Given the description of an element on the screen output the (x, y) to click on. 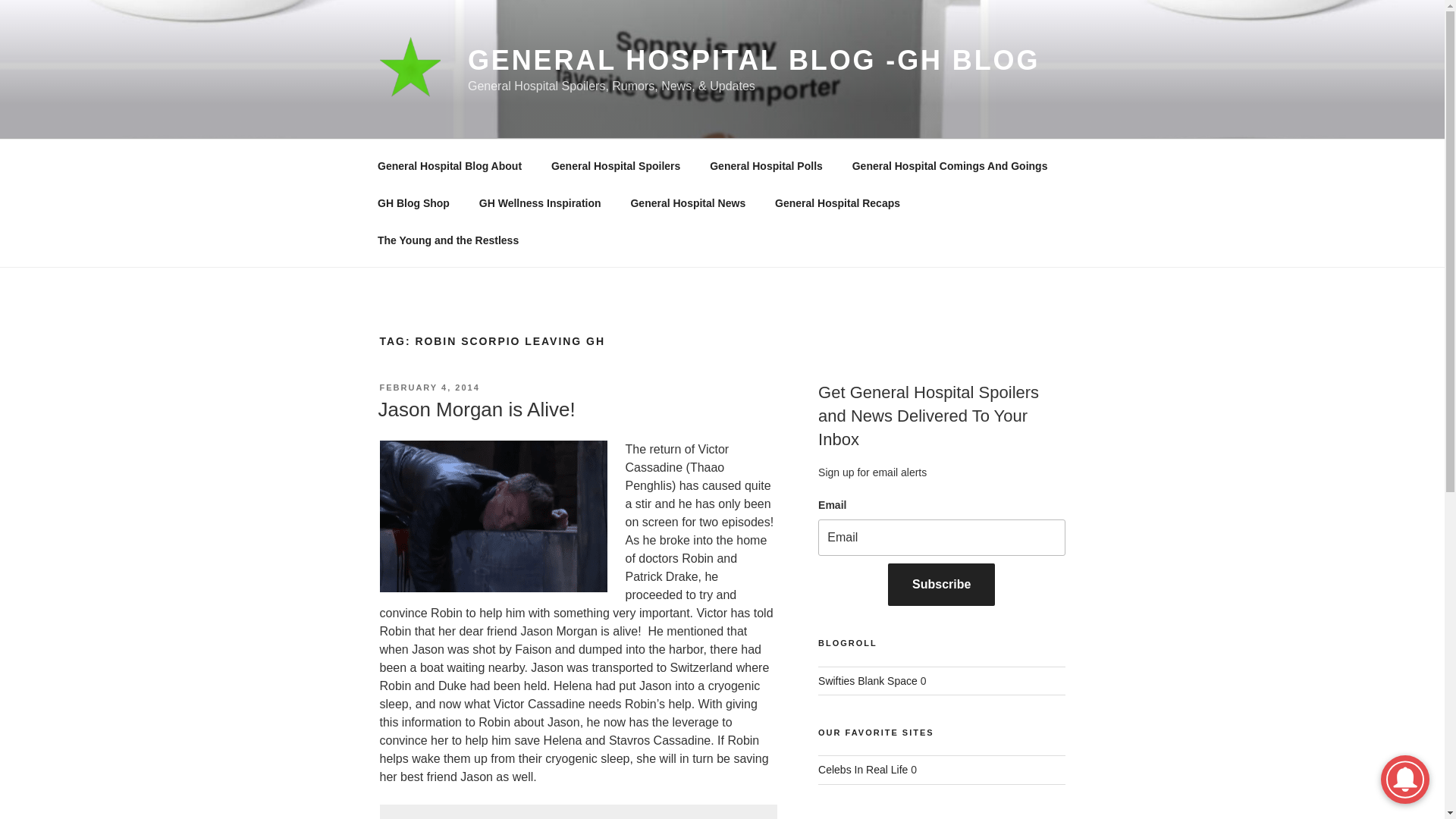
General Hospital Blog Shop (413, 203)
General Hospital Polls (766, 165)
Celebs In Real Life (862, 769)
The Young and the Restless (447, 239)
Advertisement (577, 811)
General Hospital Recaps (837, 203)
GH Blog Shop (413, 203)
General Hospital News (687, 203)
General Hospital Spoilers (615, 165)
Swifties Blank Space (867, 680)
General Hospital News (687, 203)
General Hospital Blog About (449, 165)
General Hospital Spoilers (615, 165)
GH Comings and Goings  (949, 165)
General Hospital Comings And Goings (949, 165)
